Given the description of an element on the screen output the (x, y) to click on. 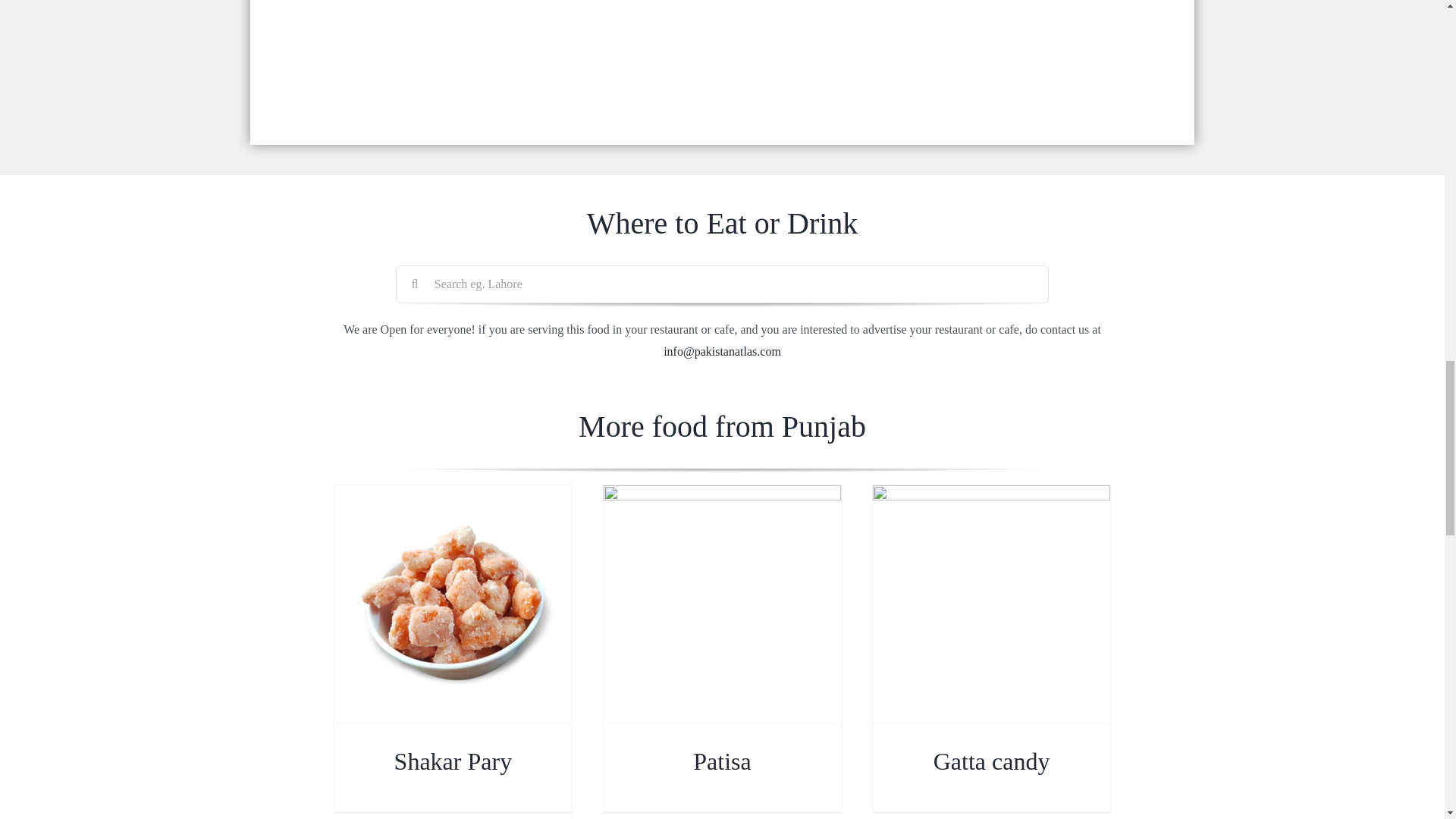
Patisa (722, 760)
Shakar Pary (453, 760)
Pakistan Atlas (721, 350)
Gatta candy (991, 760)
